Given the description of an element on the screen output the (x, y) to click on. 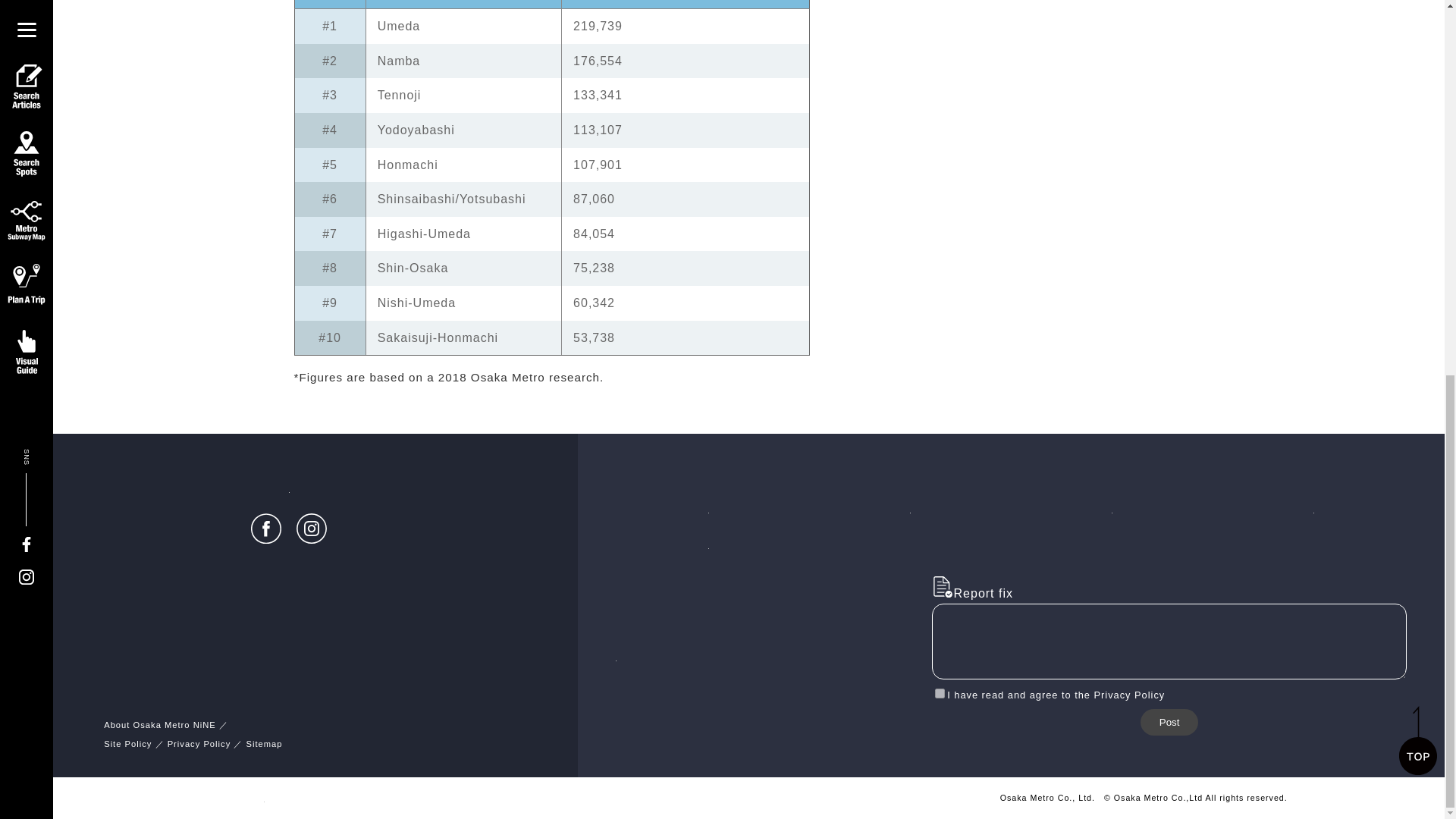
on (939, 693)
Post (1169, 722)
Page TOP (1418, 49)
